Given the description of an element on the screen output the (x, y) to click on. 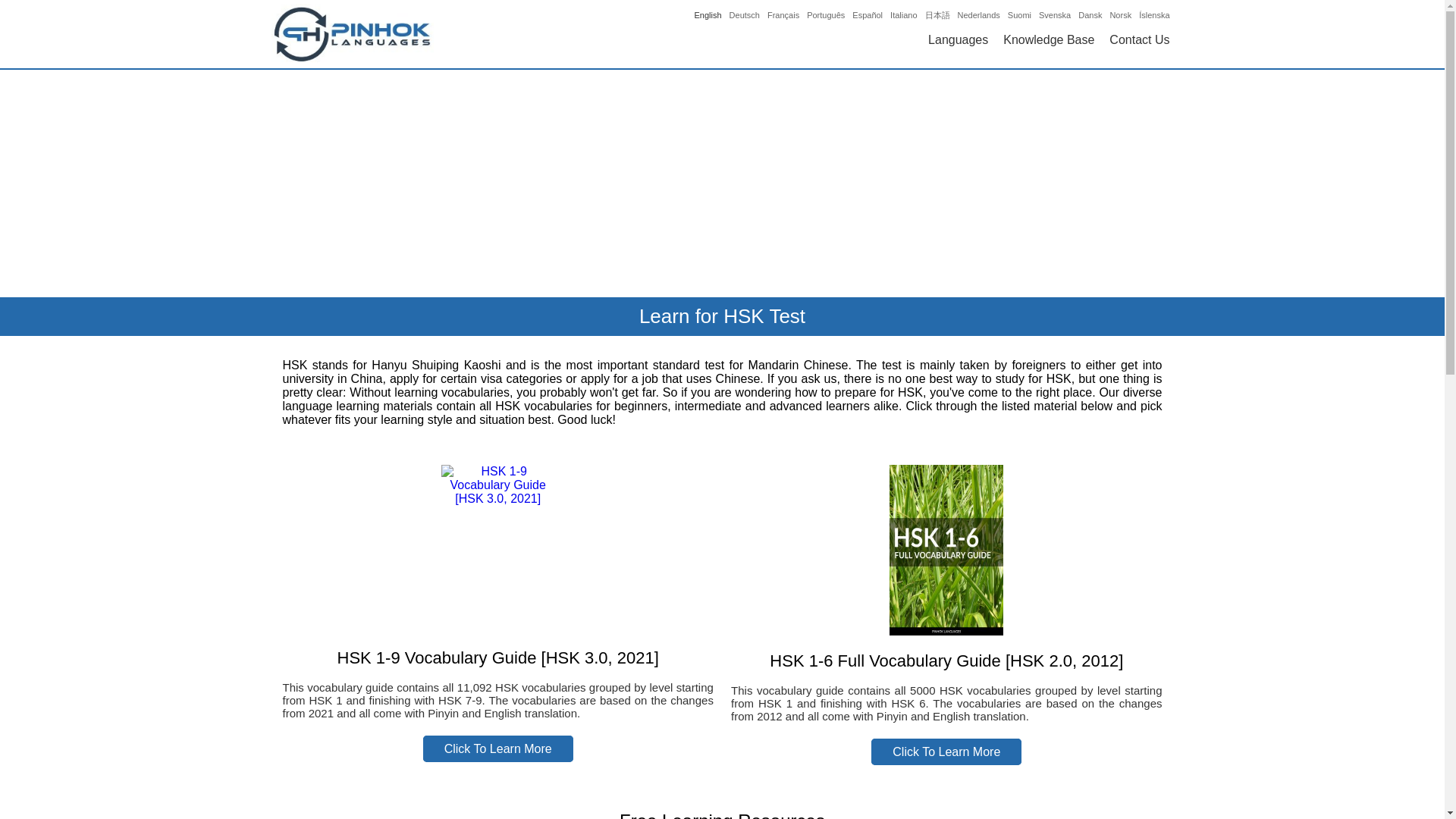
Suomi (1018, 15)
Knowledge Base (1048, 40)
Dansk (1090, 15)
Deutsch (744, 15)
Deutsch (744, 15)
English (708, 15)
English (708, 15)
Contact Us (1139, 40)
Svenska (1054, 15)
Norsk (1120, 15)
